Given the description of an element on the screen output the (x, y) to click on. 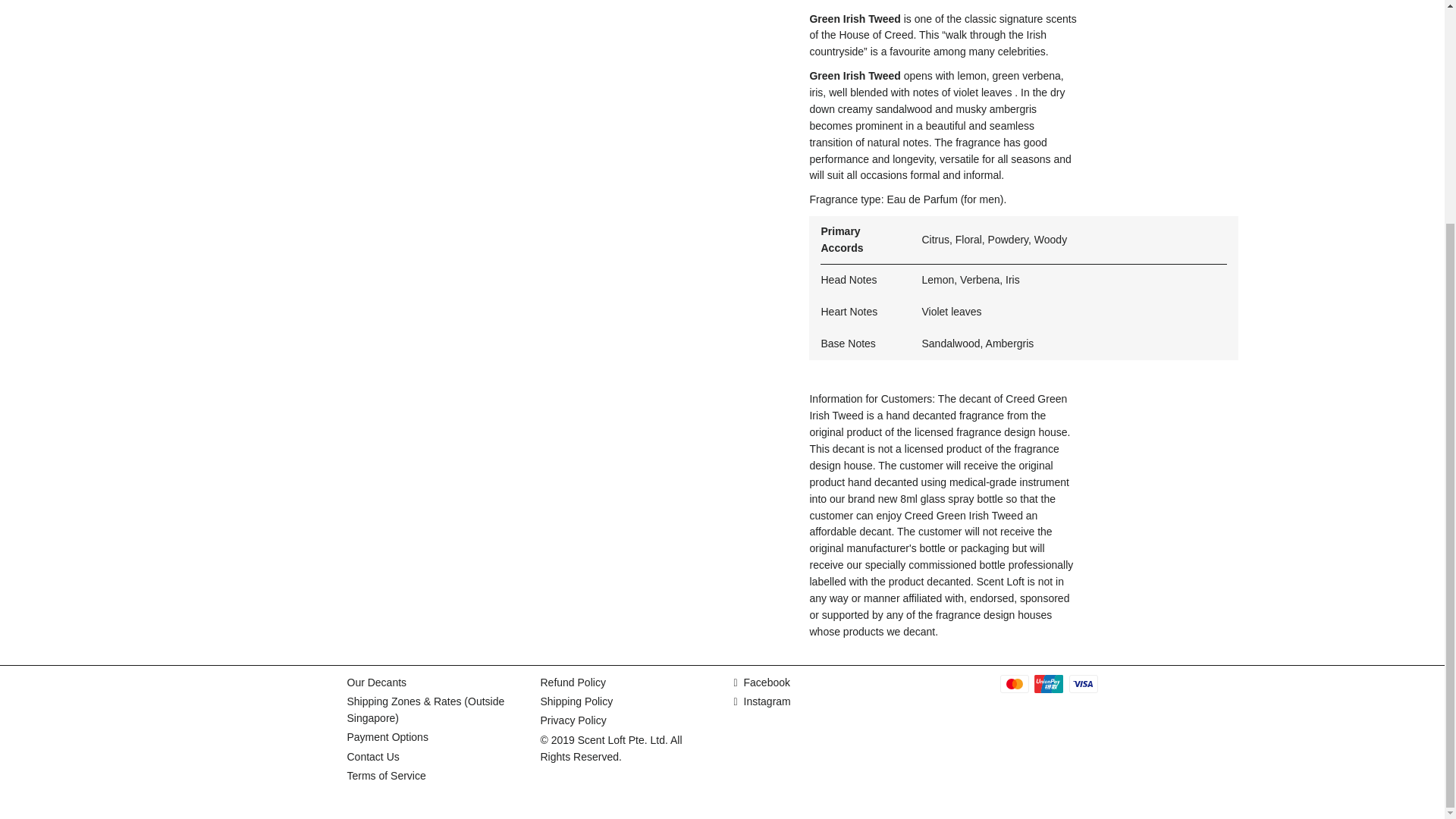
Mastercard (1012, 683)
Union Pay (1047, 683)
Contact Us (372, 756)
Facebook (761, 682)
Payment Options (387, 736)
Visa (1082, 683)
Our Decants (377, 682)
Terms of Service (386, 775)
Shipping Policy (576, 701)
Privacy Policy (572, 720)
